Given the description of an element on the screen output the (x, y) to click on. 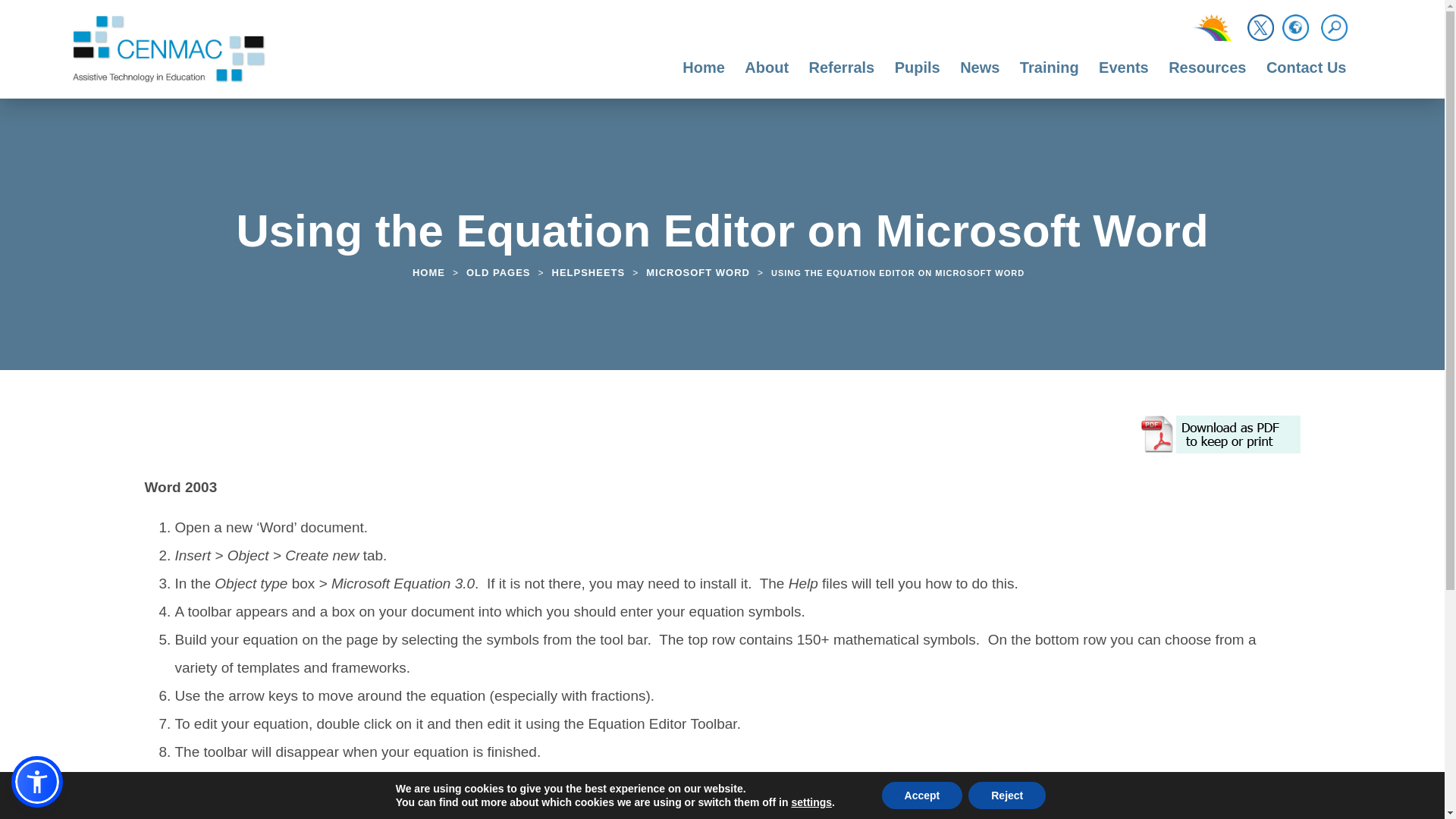
About (766, 75)
Pupils (917, 75)
Referrals (842, 75)
Home (703, 75)
